Given the description of an element on the screen output the (x, y) to click on. 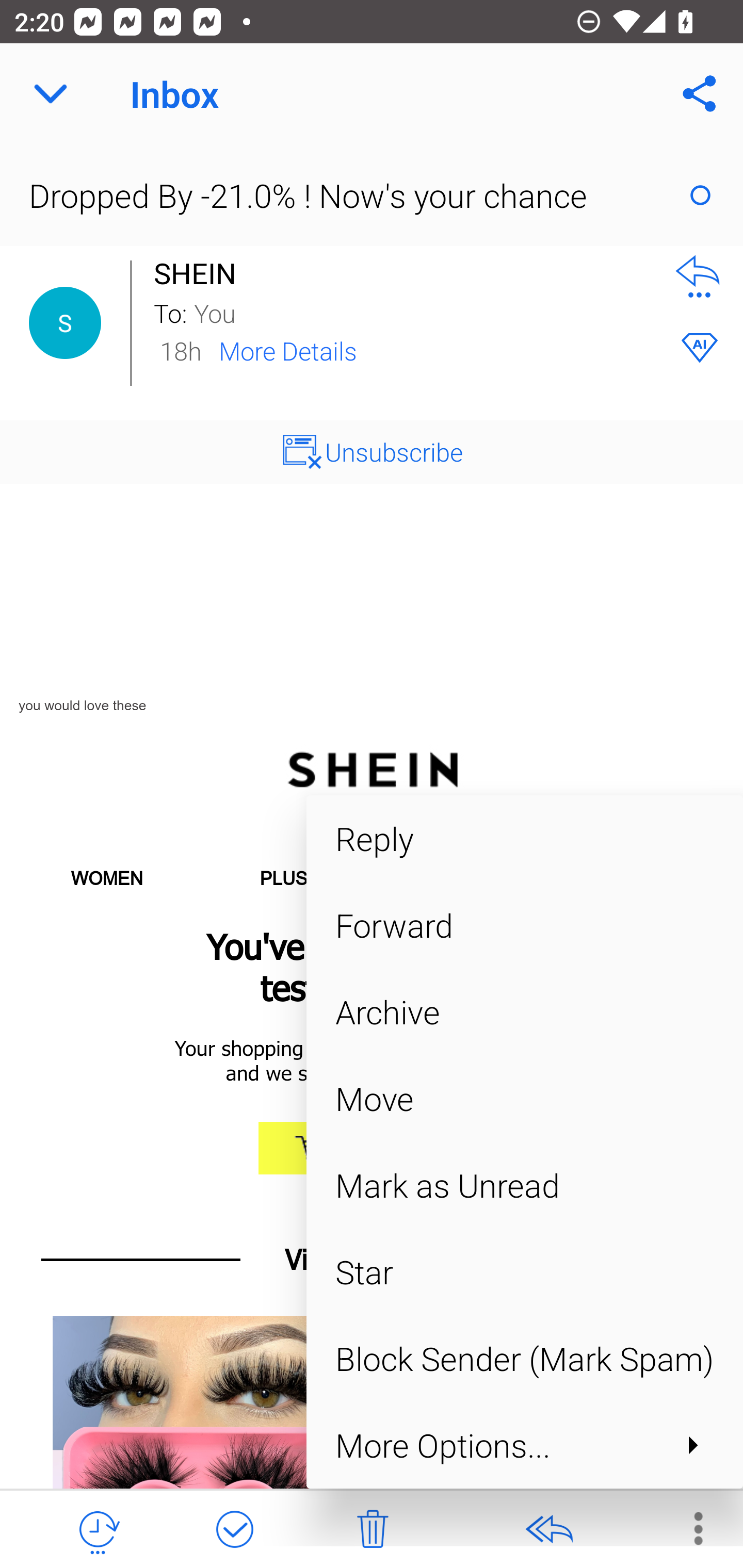
Reply (524, 837)
Forward (524, 925)
Archive (524, 1012)
Move (524, 1098)
Mark as Unread (524, 1185)
Star (524, 1272)
Block Sender (Mark Spam) (524, 1358)
More Options... (524, 1444)
